Given the description of an element on the screen output the (x, y) to click on. 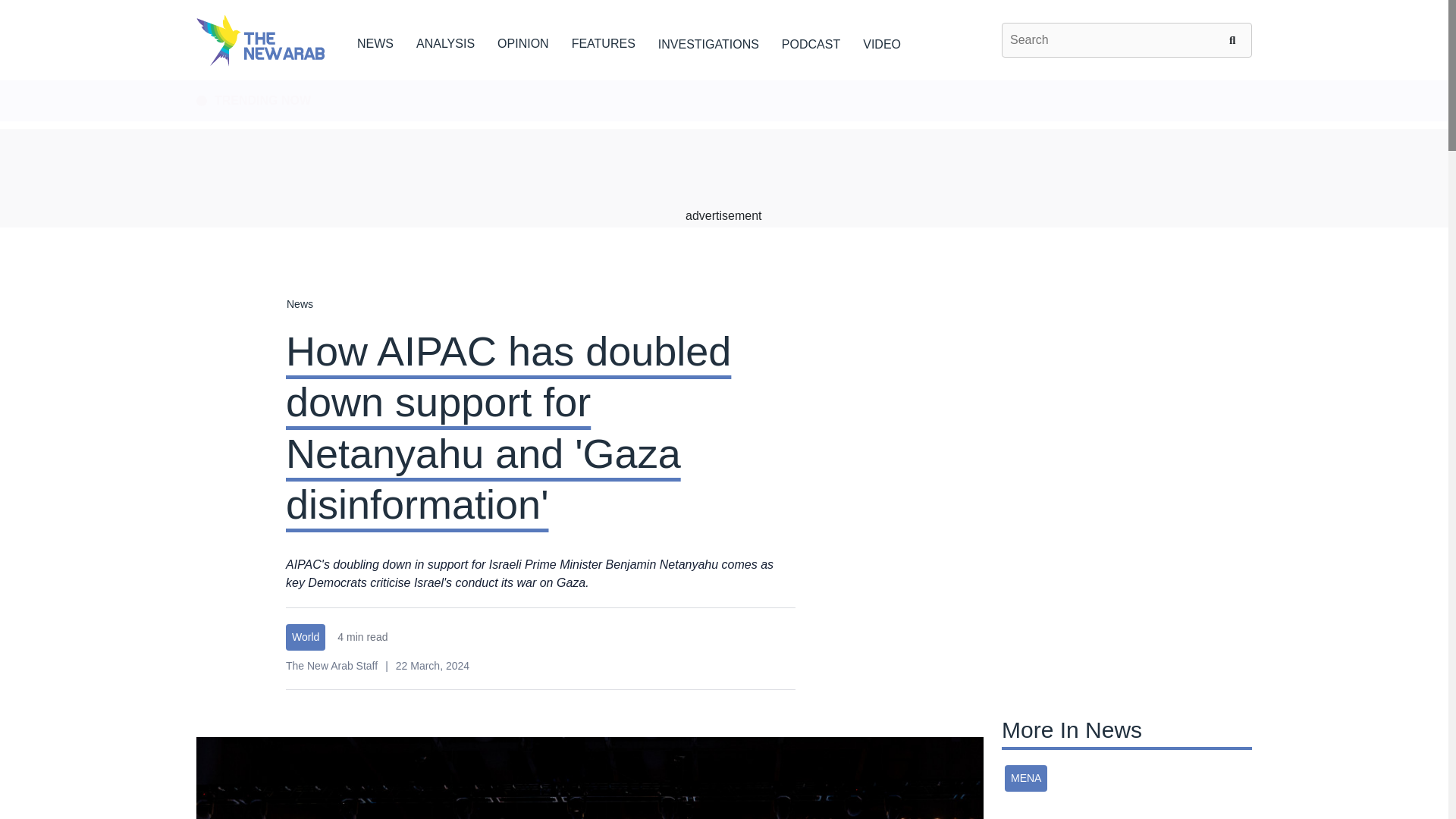
Search (1234, 39)
OPINION (523, 41)
Skip to main content (724, 81)
ANALYSIS (445, 41)
NEWS (375, 41)
